Given the description of an element on the screen output the (x, y) to click on. 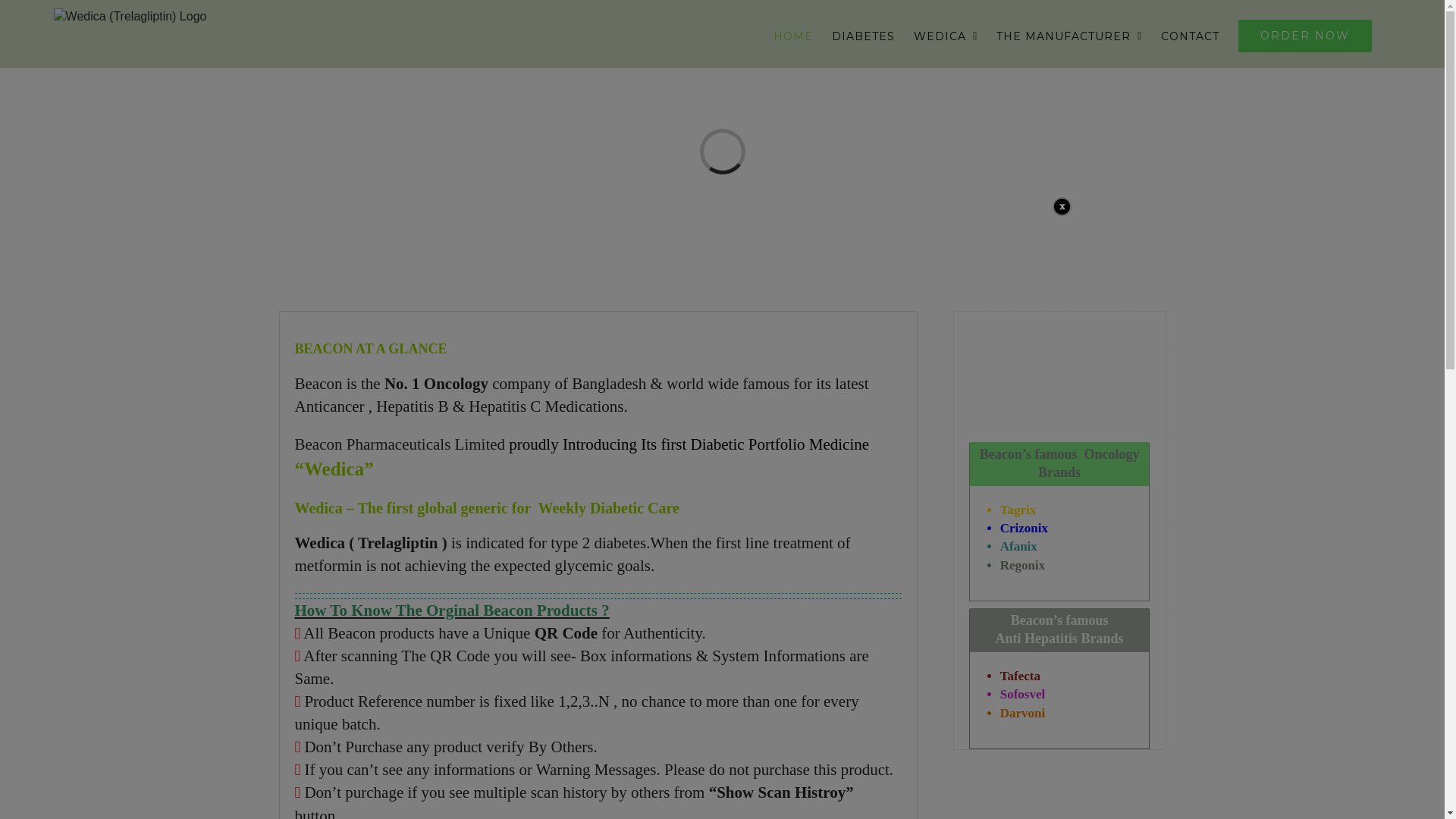
Tafecta Element type: text (1020, 675)
Regonix Element type: text (1022, 565)
Sofosvel Element type: text (1022, 694)
Afanix Element type: text (1018, 546)
Beacon Pharmaceuticals Limited Element type: text (401, 444)
Crizonix Element type: text (1024, 527)
Tagrix Element type: text (1018, 509)
Darvoni Element type: text (1022, 713)
